Given the description of an element on the screen output the (x, y) to click on. 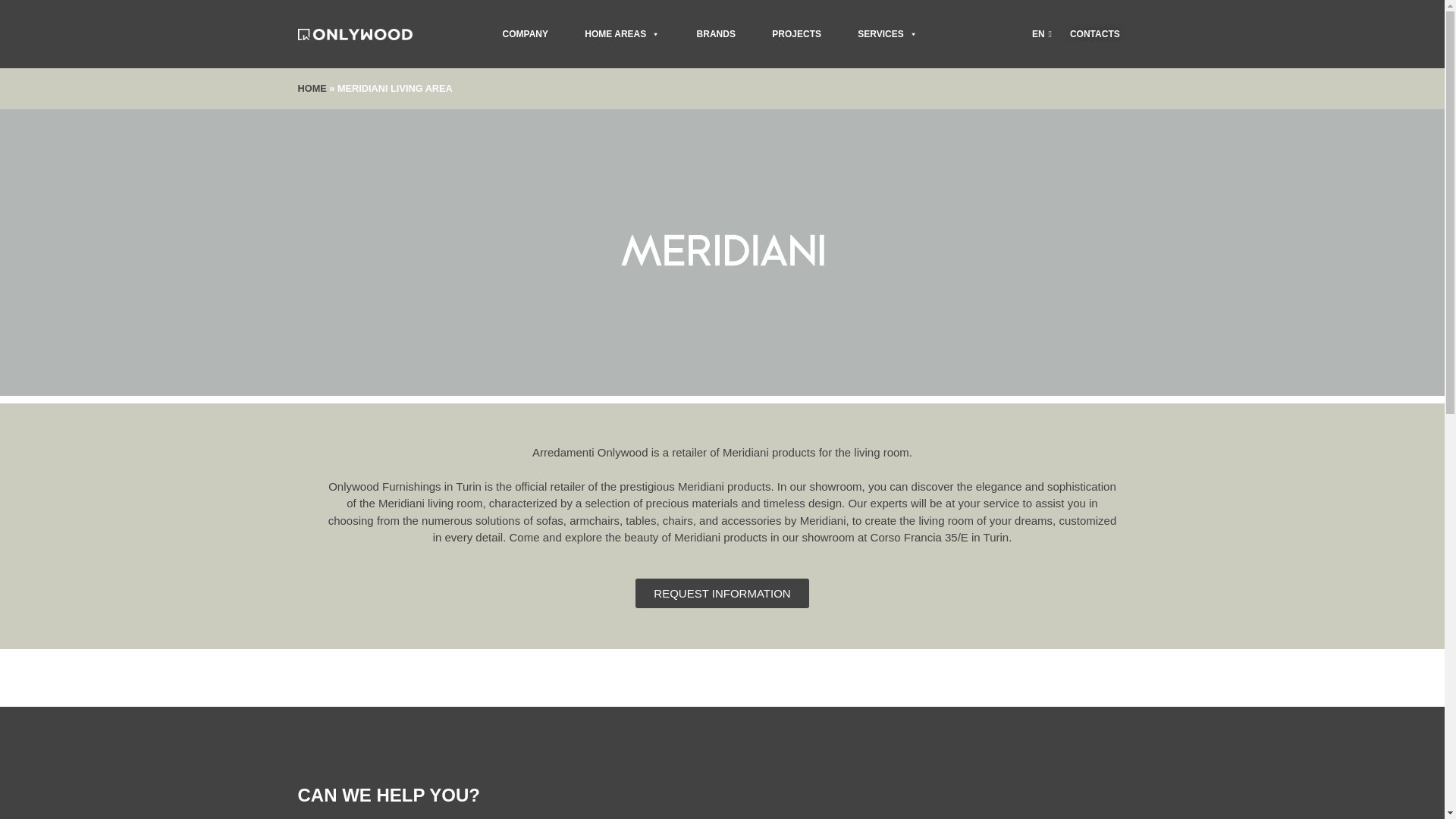
BRANDS (715, 34)
HOME AREAS (621, 34)
CONTACTS (1094, 33)
EN (1038, 34)
COMPANY (525, 34)
PROJECTS (796, 34)
SERVICES (887, 34)
